Given the description of an element on the screen output the (x, y) to click on. 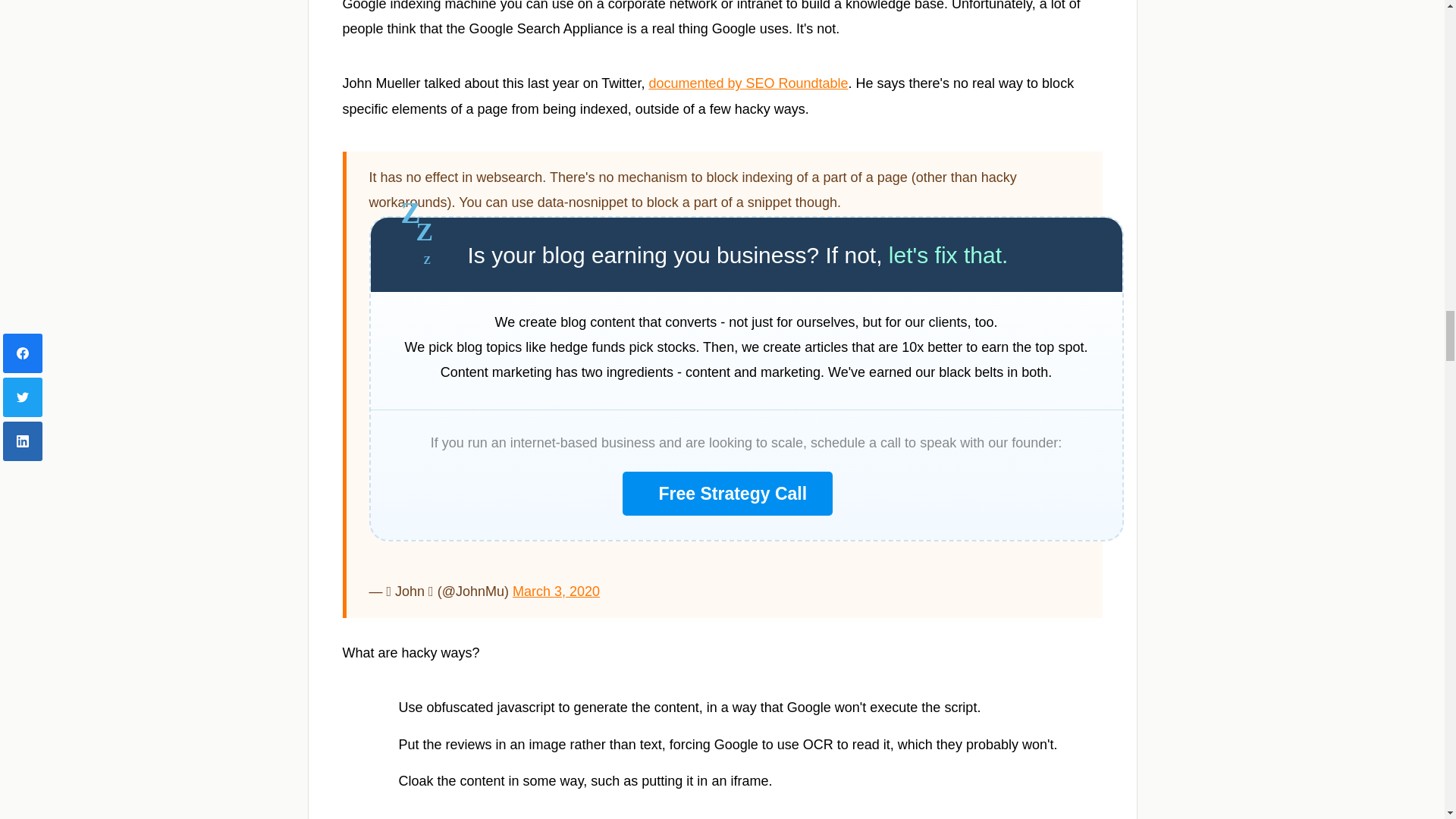
documented by SEO Roundtable (747, 83)
Free Strategy Call (726, 493)
March 3, 2020 (555, 590)
